Given the description of an element on the screen output the (x, y) to click on. 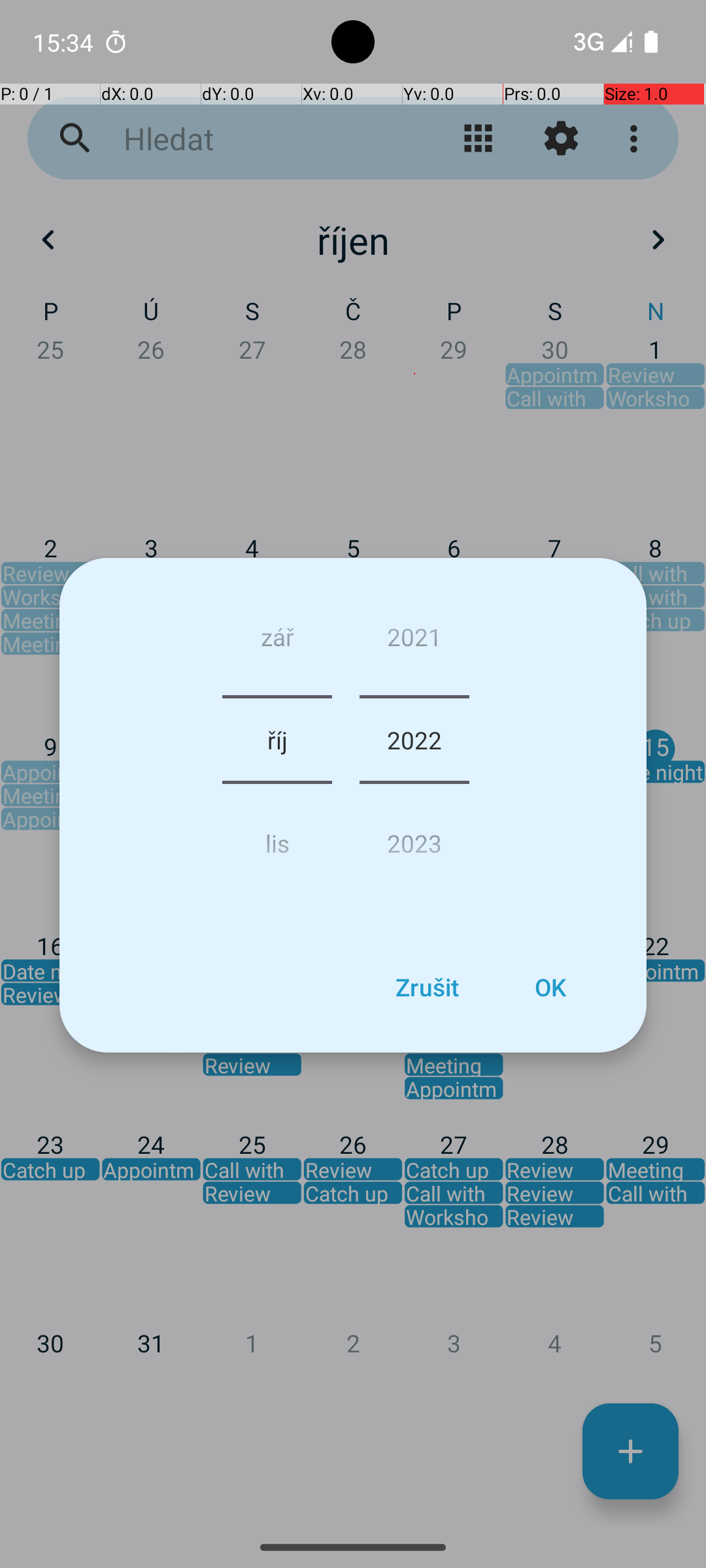
zář Element type: android.widget.Button (277, 641)
říj Element type: android.widget.EditText (277, 739)
lis Element type: android.widget.Button (277, 837)
